Given the description of an element on the screen output the (x, y) to click on. 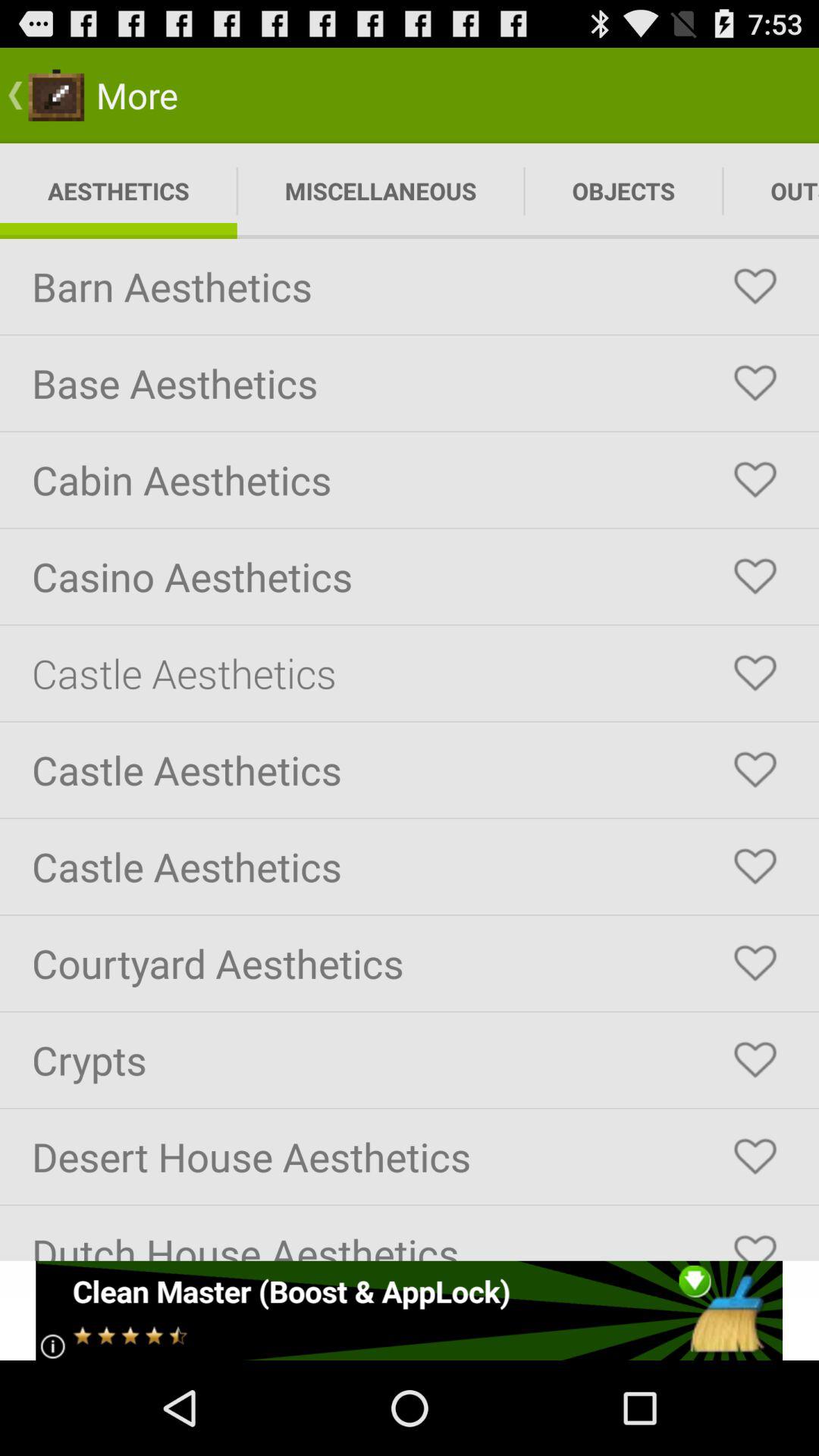
favorite (755, 1156)
